Given the description of an element on the screen output the (x, y) to click on. 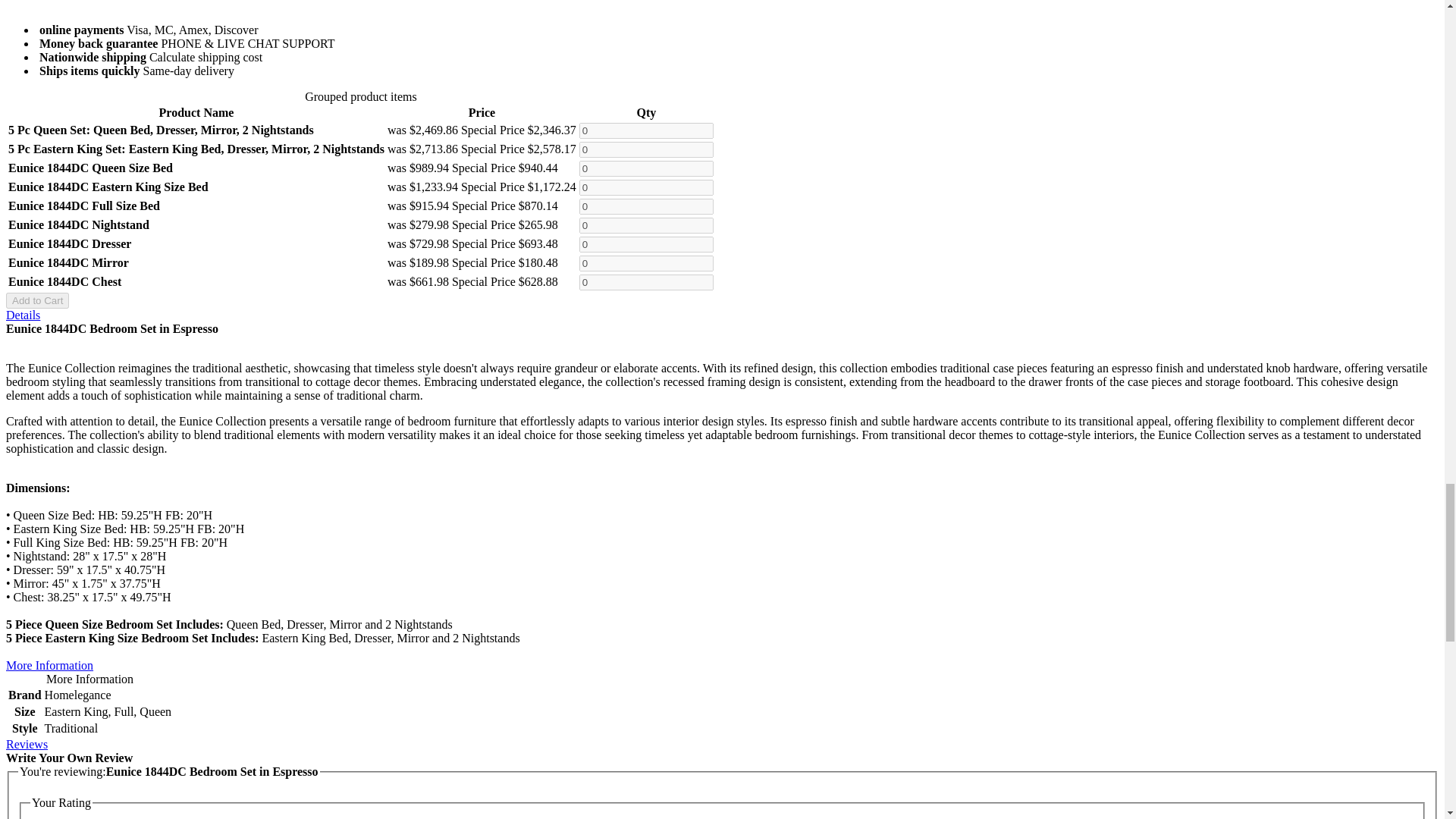
0 (646, 244)
0 (646, 130)
0 (646, 206)
0 (646, 168)
0 (646, 187)
0 (646, 263)
0 (646, 225)
0 (646, 149)
0 (646, 282)
